Given the description of an element on the screen output the (x, y) to click on. 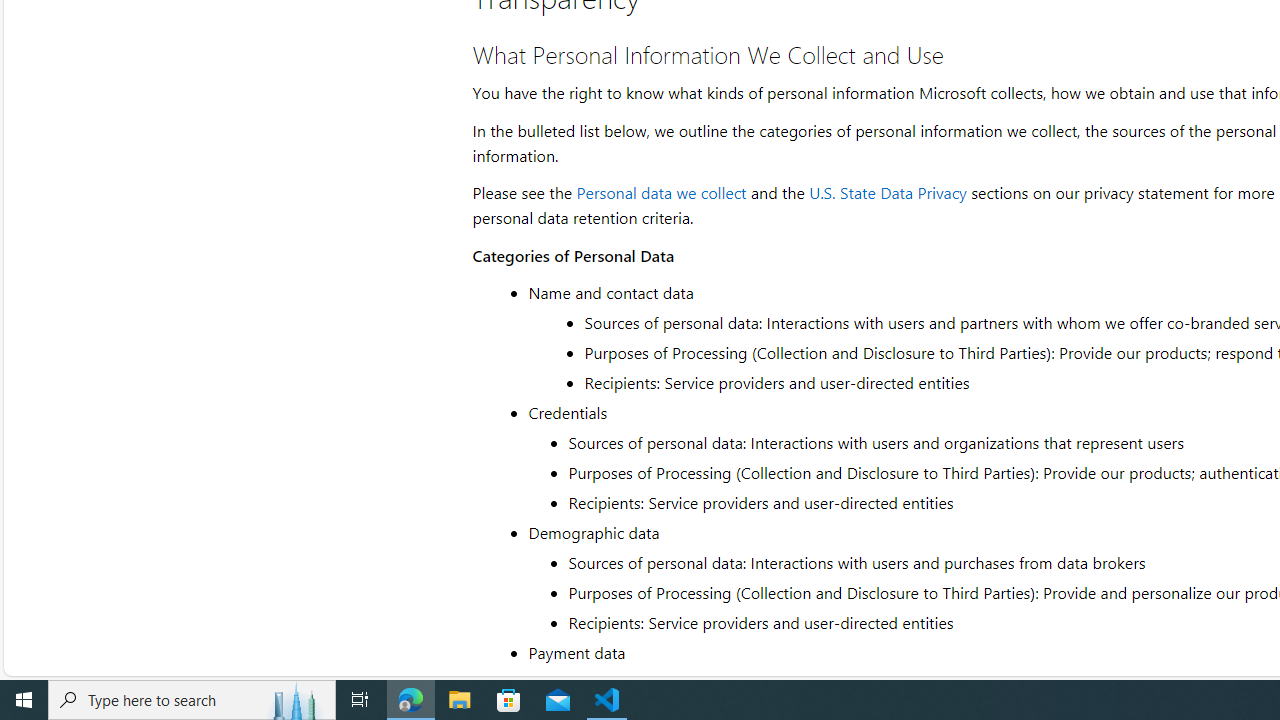
Personal data we collect (661, 192)
U.S. State Data Privacy (887, 192)
